Given the description of an element on the screen output the (x, y) to click on. 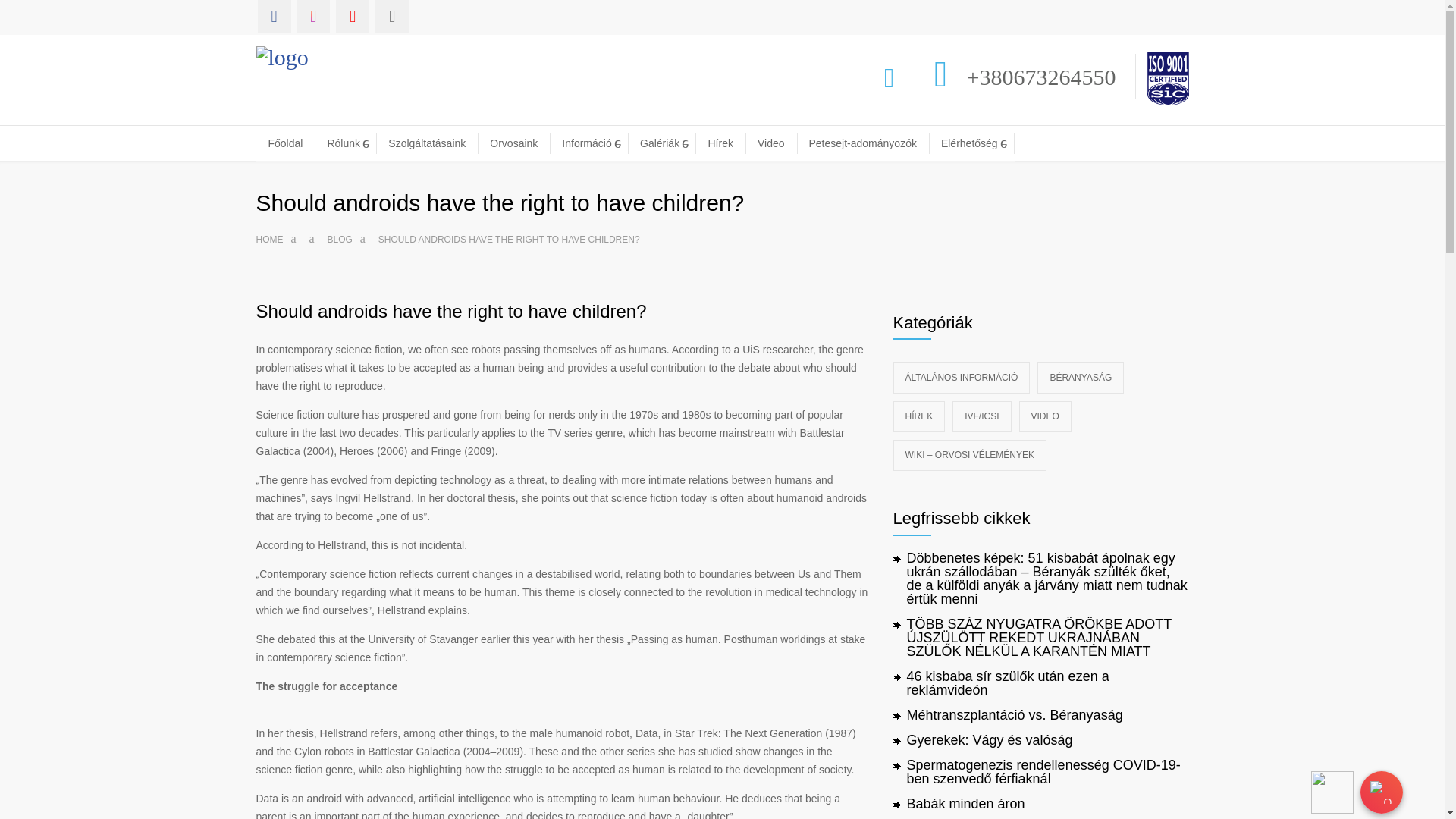
Orvosaink (513, 143)
